Given the description of an element on the screen output the (x, y) to click on. 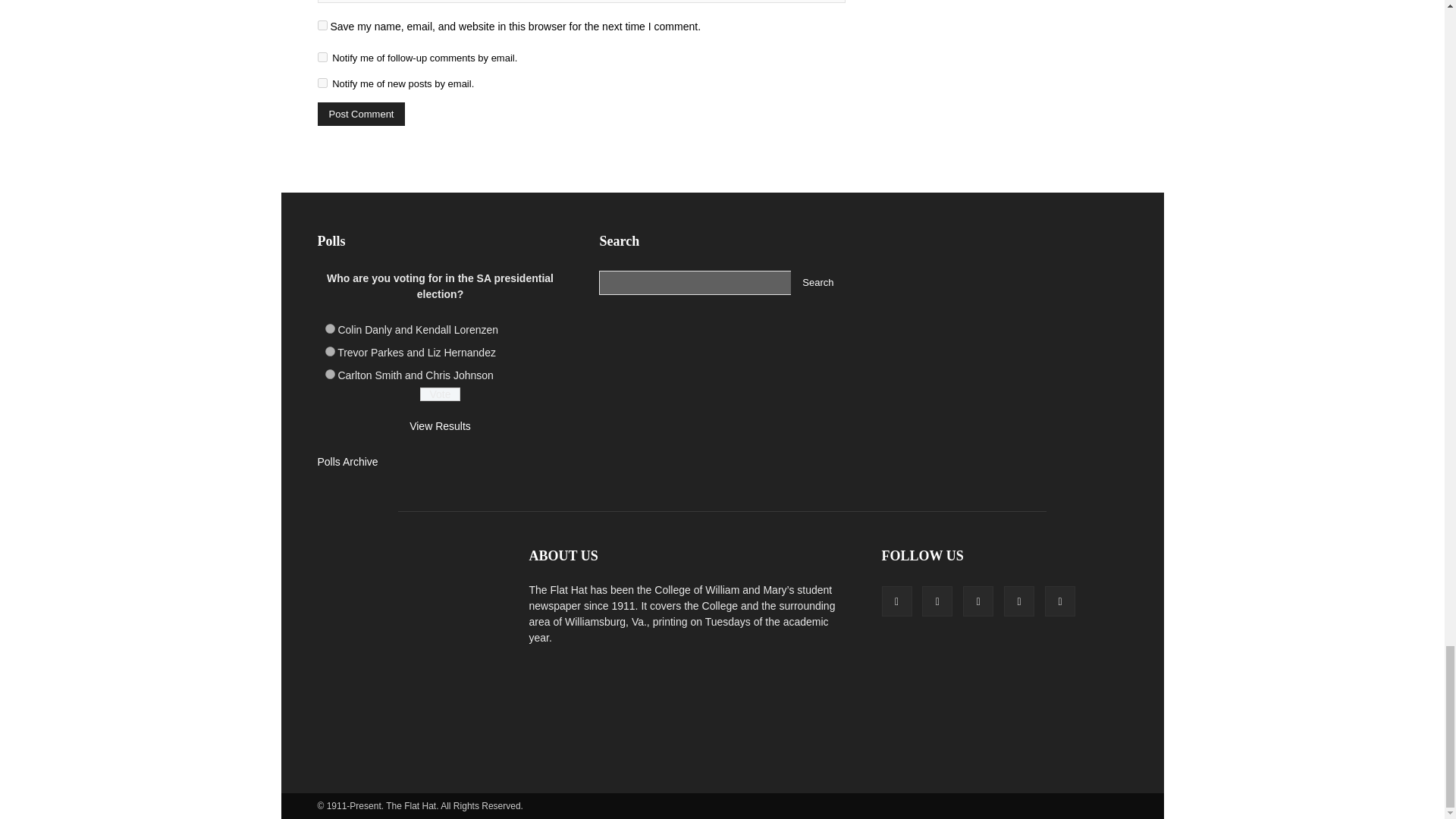
Search (817, 282)
104 (329, 328)
Post Comment (360, 114)
subscribe (321, 82)
yes (321, 25)
subscribe (321, 57)
105 (329, 351)
   Vote    (440, 394)
106 (329, 374)
